Given the description of an element on the screen output the (x, y) to click on. 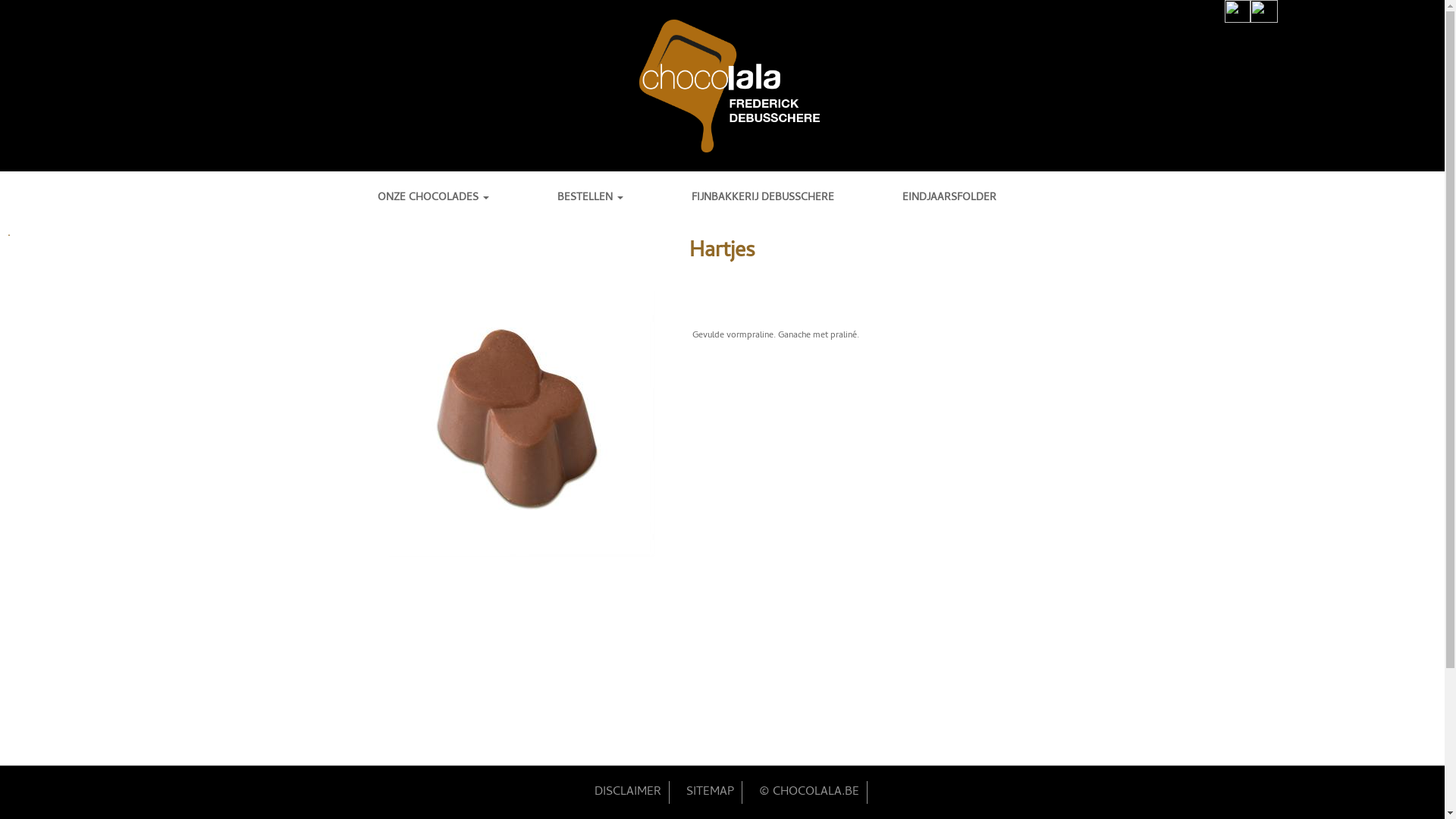
Overslaan en naar de inhoud gaan Element type: text (658, 0)
ONZE CHOCOLADES Element type: text (455, 197)
EINDJAARSFOLDER Element type: text (971, 197)
chocolade vormpralines hartjes Element type: hover (520, 423)
DISCLAIMER Element type: text (624, 792)
CHOCOLALA - CATALOGUE Element type: text (7, 473)
BESTELLEN Element type: text (612, 197)
SITEMAP Element type: text (705, 792)
FIJNBAKKERIJ DEBUSSCHERE Element type: text (785, 197)
